Given the description of an element on the screen output the (x, y) to click on. 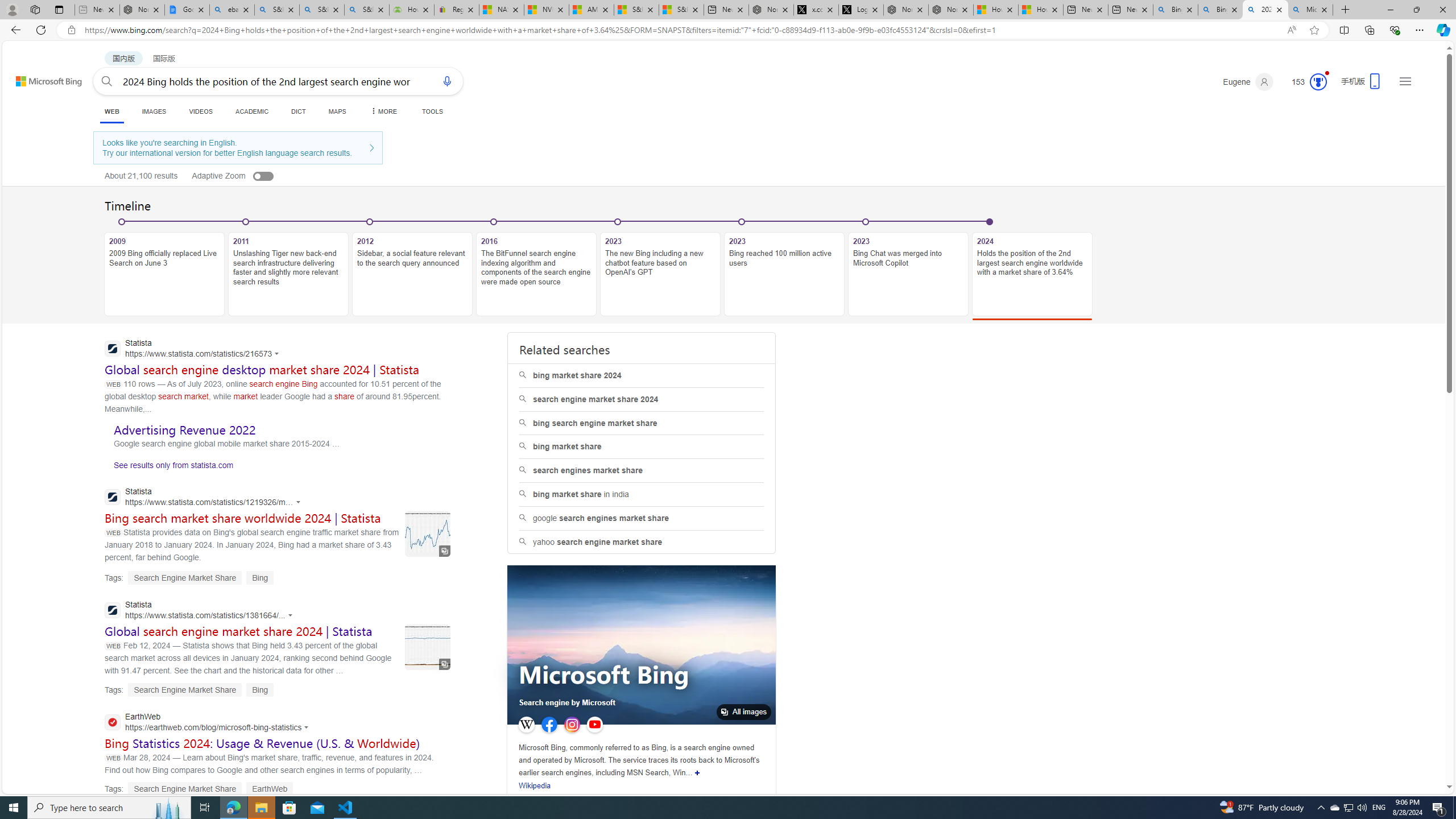
VIDEOS (201, 111)
Global search engine desktop market share 2024 | Statista (261, 368)
Microsoft Bing (603, 676)
TOOLS (431, 111)
TOOLS (431, 111)
Microsoft Bing Timeline - Search (1310, 9)
yahoo search engine market share (641, 541)
x.com/NordaceOfficial (816, 9)
2023 Bing Chat was merged into Microsoft Copilot (908, 273)
Tags: Search Engine Market Share EarthWeb (199, 789)
